Given the description of an element on the screen output the (x, y) to click on. 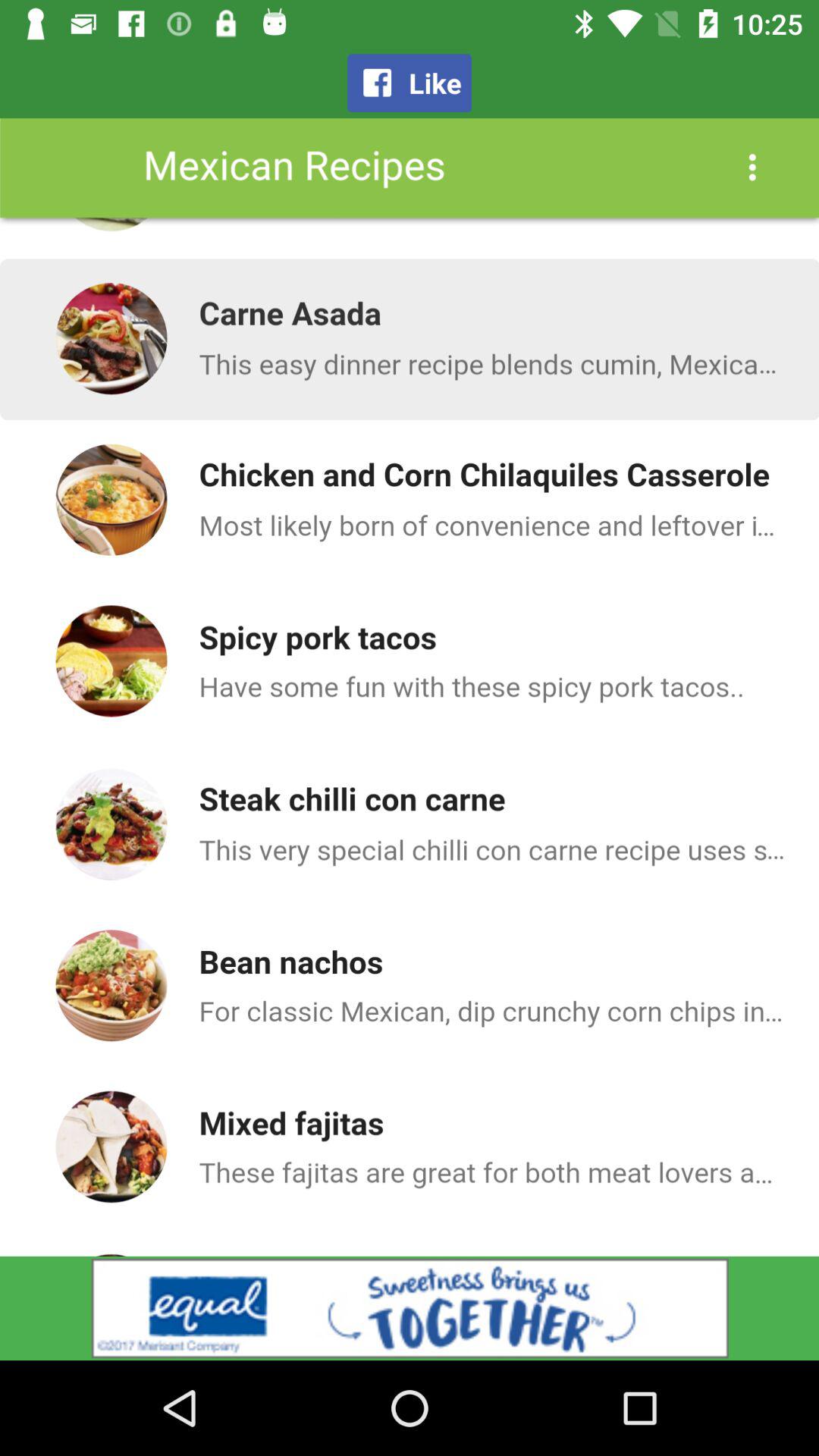
click advertisement to go to advertisement page (409, 1308)
